Given the description of an element on the screen output the (x, y) to click on. 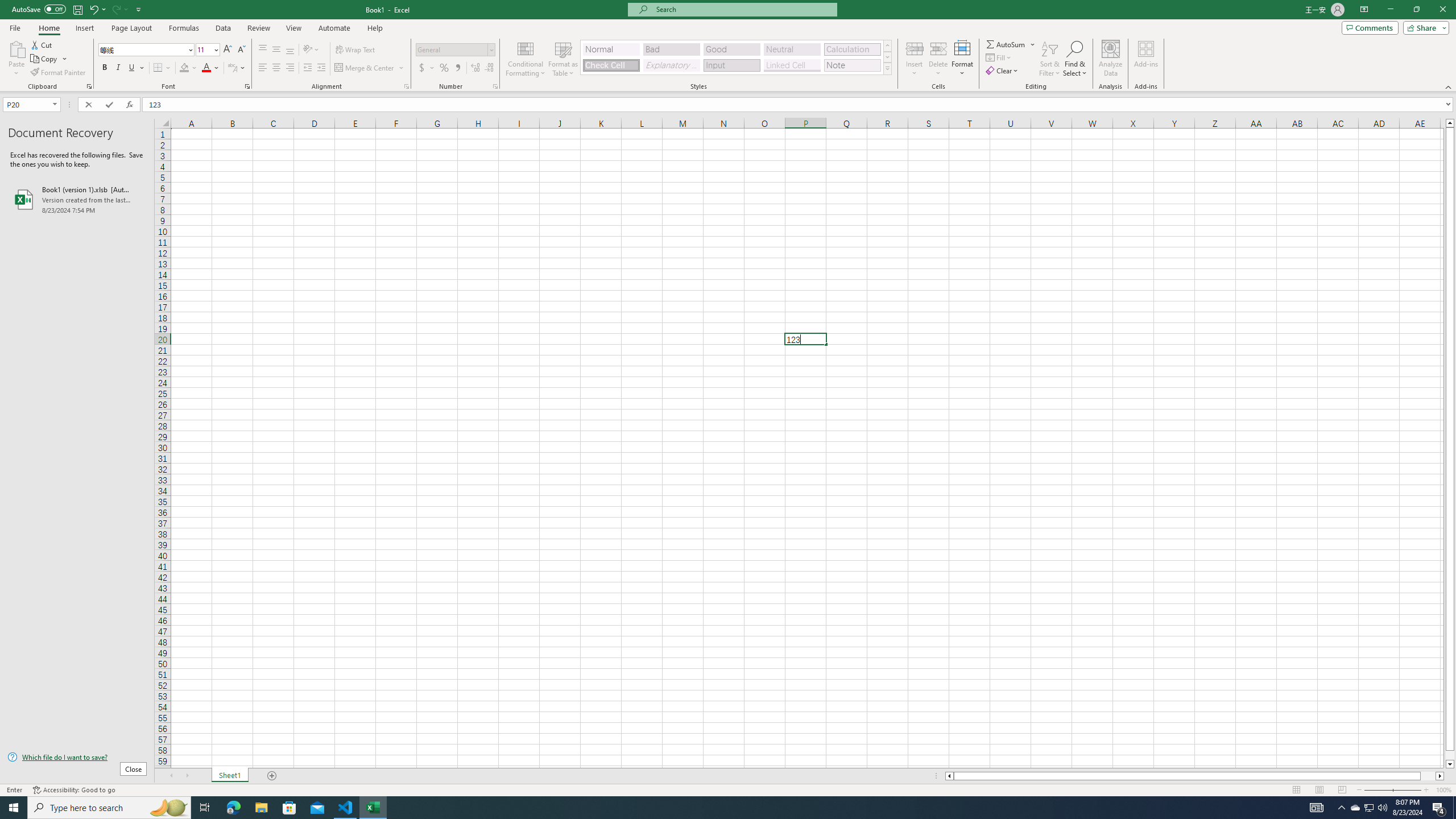
Font Size (204, 49)
Underline (131, 67)
Number Format (451, 49)
Underline (136, 67)
Bad (671, 49)
Conditional Formatting (525, 58)
Sum (1006, 44)
Font (142, 49)
Font Color (210, 67)
Explanatory Text (671, 65)
Calculation (852, 49)
